Given the description of an element on the screen output the (x, y) to click on. 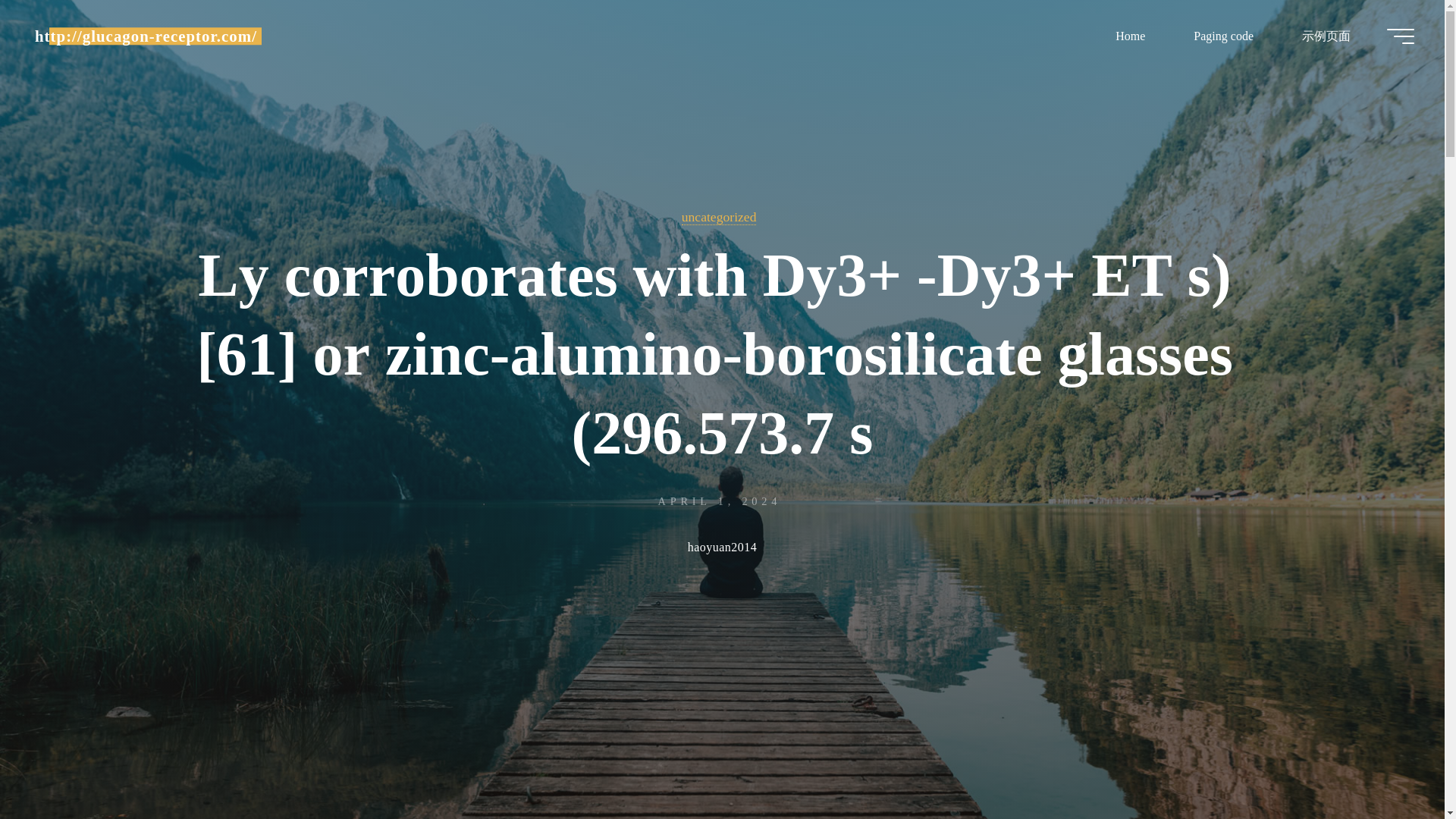
uncategorized (719, 217)
Paging code (1223, 35)
View all posts by haoyuan2014 (722, 548)
Glucagon Receptor (146, 36)
haoyuan2014 (722, 548)
Home (1129, 35)
Read more (721, 724)
